Given the description of an element on the screen output the (x, y) to click on. 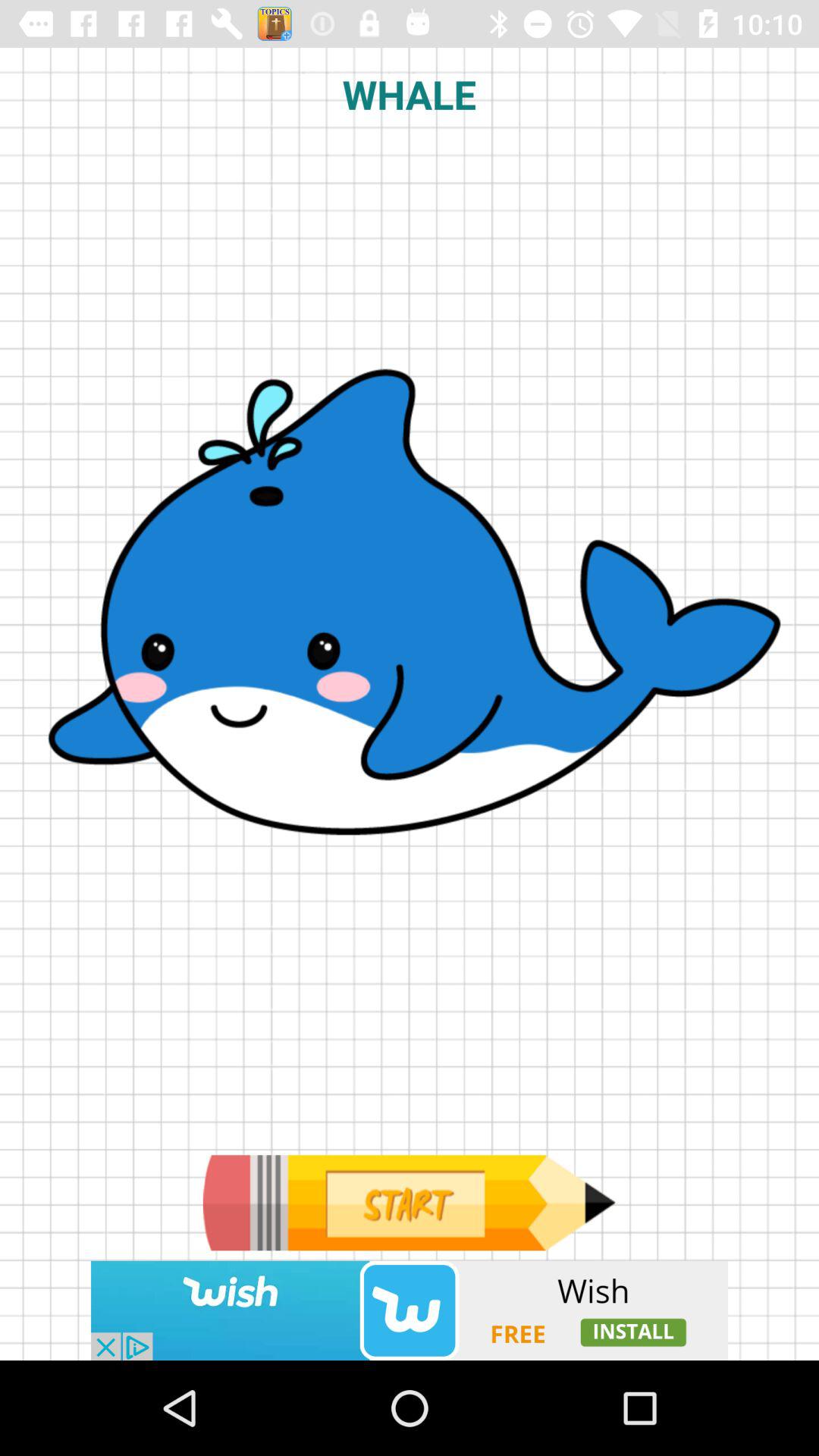
start (409, 1202)
